Given the description of an element on the screen output the (x, y) to click on. 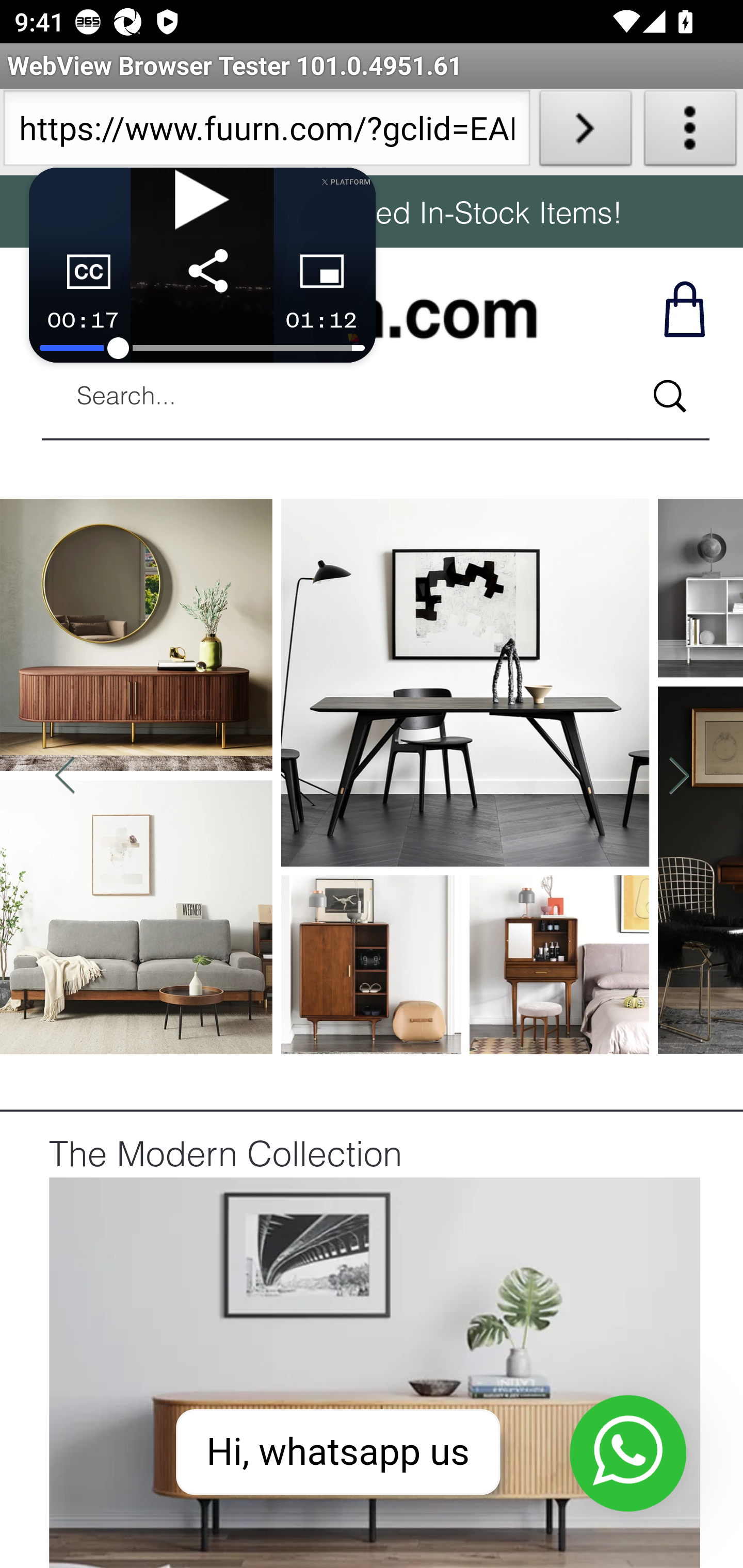
Load URL (585, 132)
About WebView (690, 132)
Shop (682, 308)
Search... (669, 395)
Previous Item (64, 776)
Next Item (678, 776)
The Modern Collection (225, 1156)
WEB Collection_7.jpg (373, 1371)
